Given the description of an element on the screen output the (x, y) to click on. 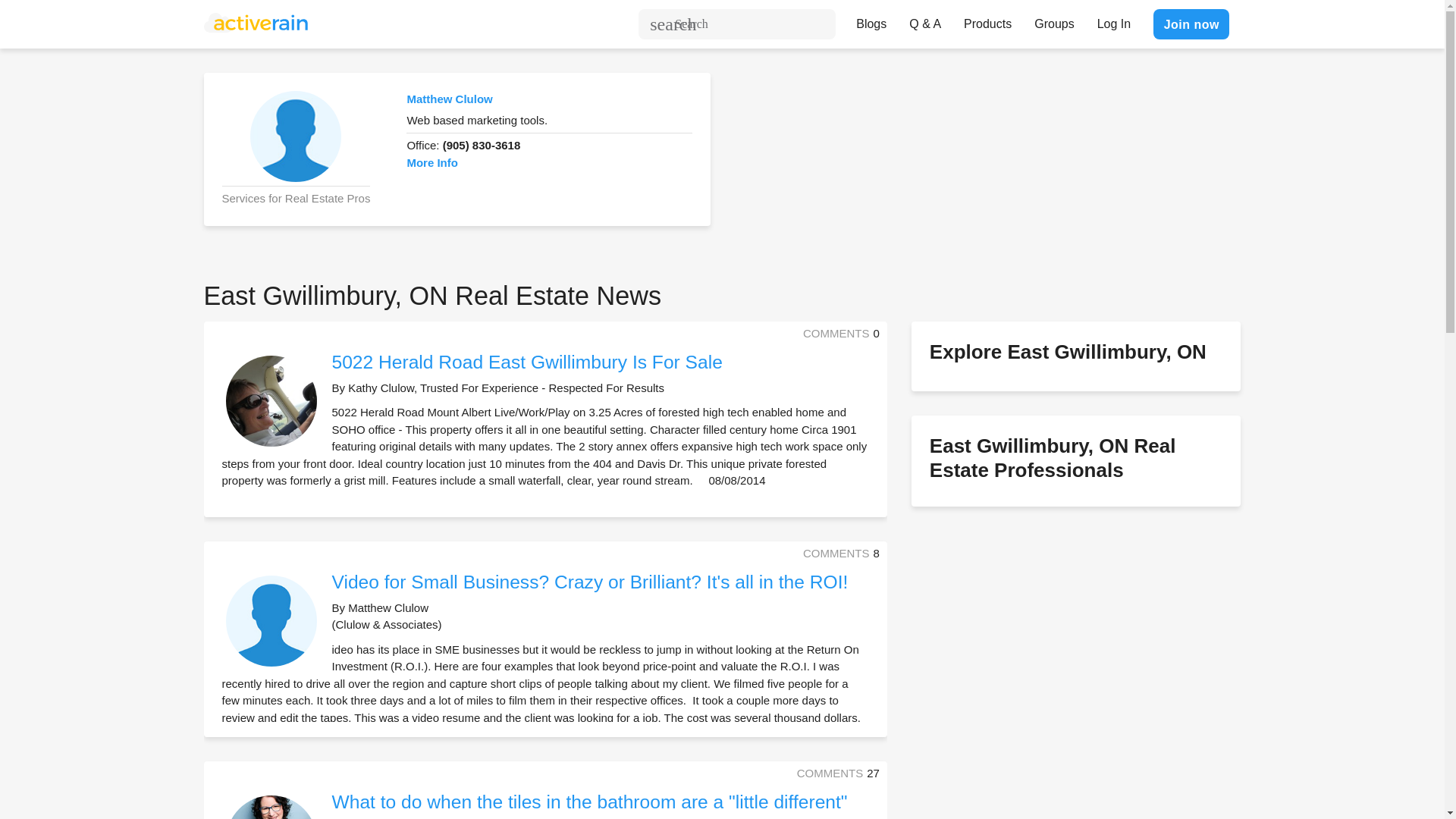
Matthew Clulow (449, 98)
Log In (1113, 19)
Blogs (870, 19)
5022 Herald Road East Gwillimbury Is For Sale (526, 362)
More Info (432, 162)
Groups (1053, 19)
Products (986, 19)
Join now (1190, 24)
